Given the description of an element on the screen output the (x, y) to click on. 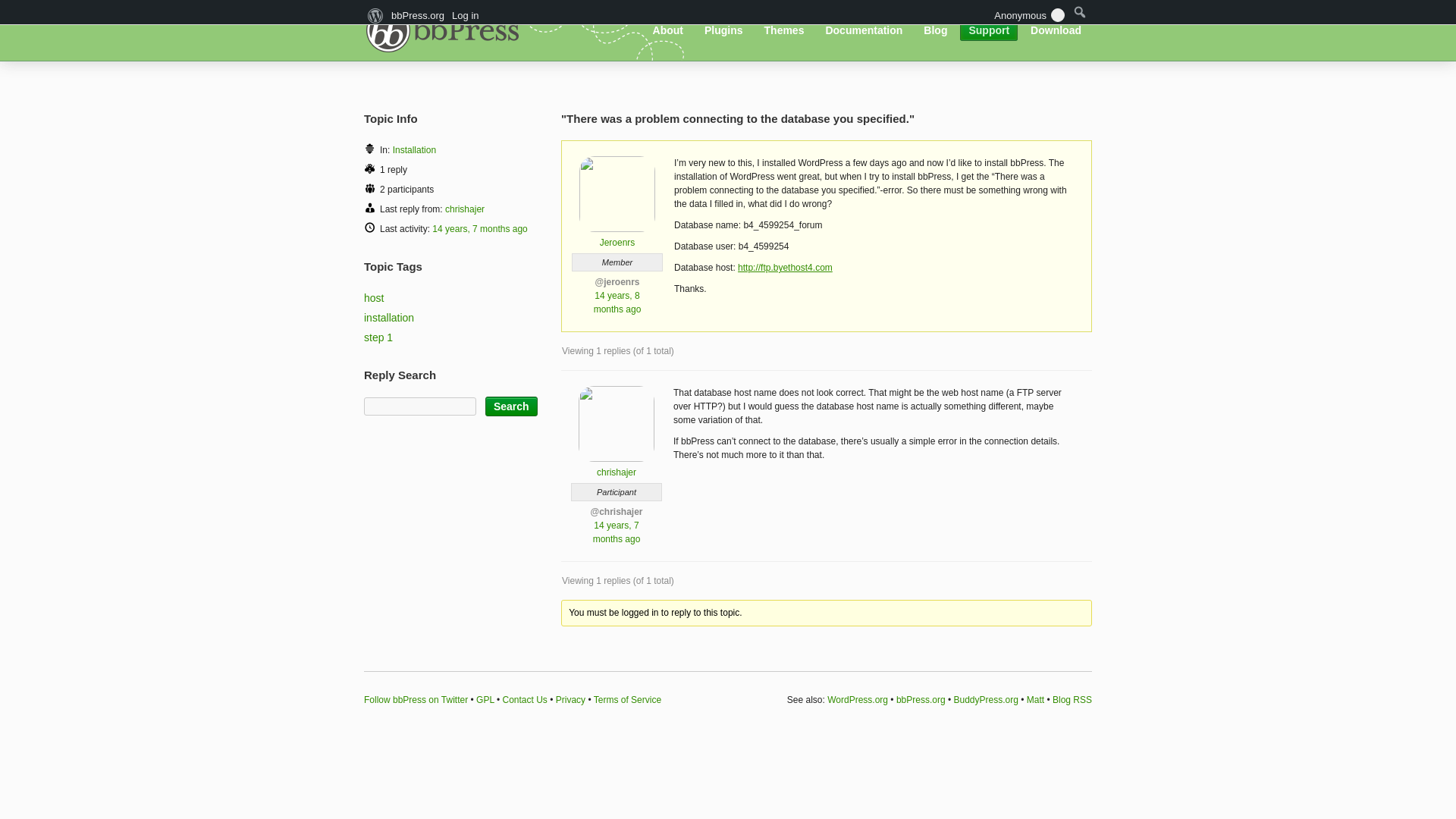
Support (988, 29)
bbPress.org (447, 29)
Plugins (723, 29)
About (668, 29)
Search (510, 406)
Themes (783, 29)
step 1 (378, 337)
Download (1055, 29)
Documentation (863, 29)
Jeroenrs (616, 236)
14 years, 7 months ago (479, 228)
Search (510, 406)
Installation (414, 149)
chrishajer (616, 466)
chrishajer (464, 208)
